Given the description of an element on the screen output the (x, y) to click on. 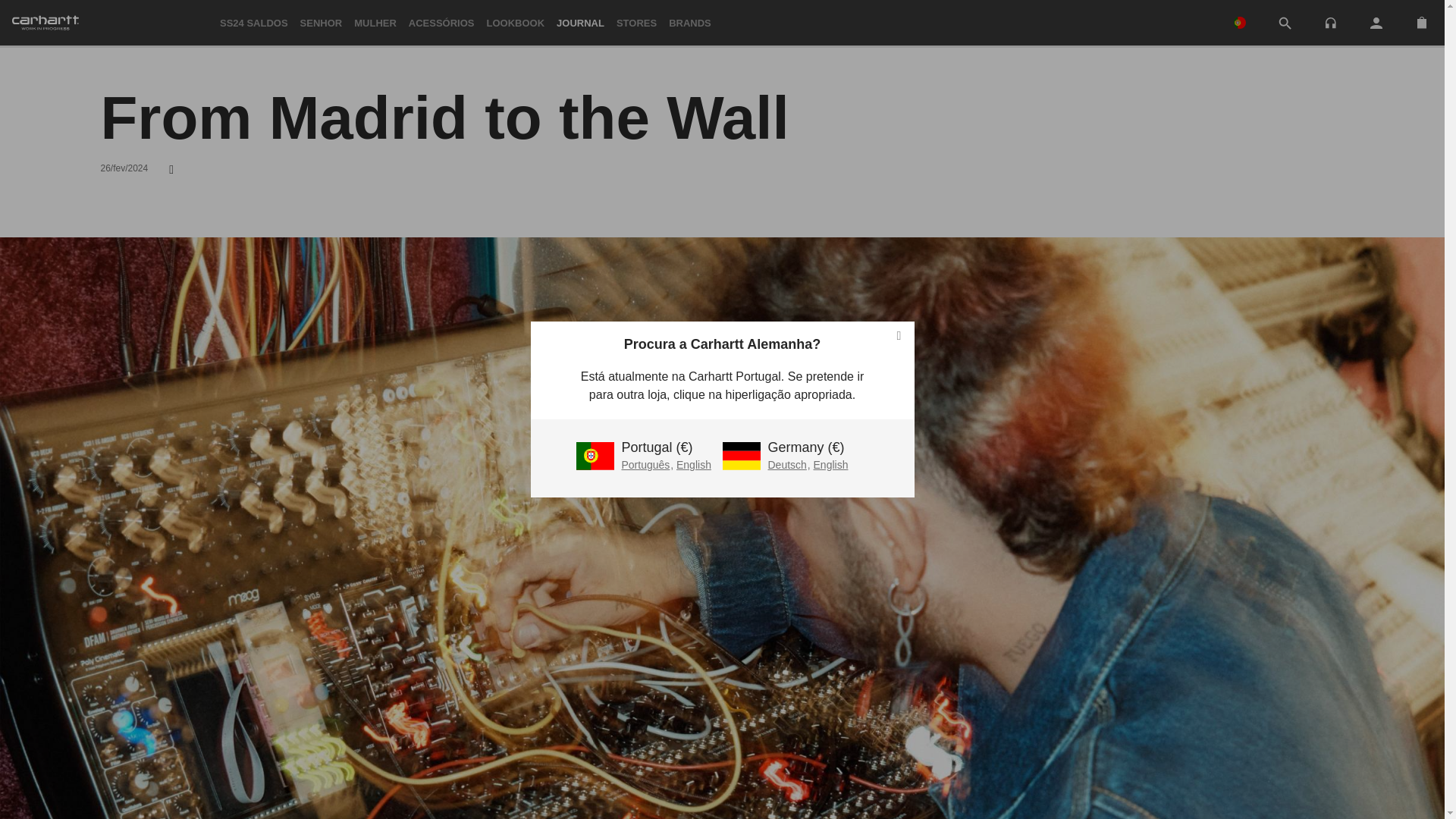
Pesquisa aqui (1284, 22)
Radio (1330, 21)
Radio (1330, 22)
Pesquisa aqui (1285, 23)
